Given the description of an element on the screen output the (x, y) to click on. 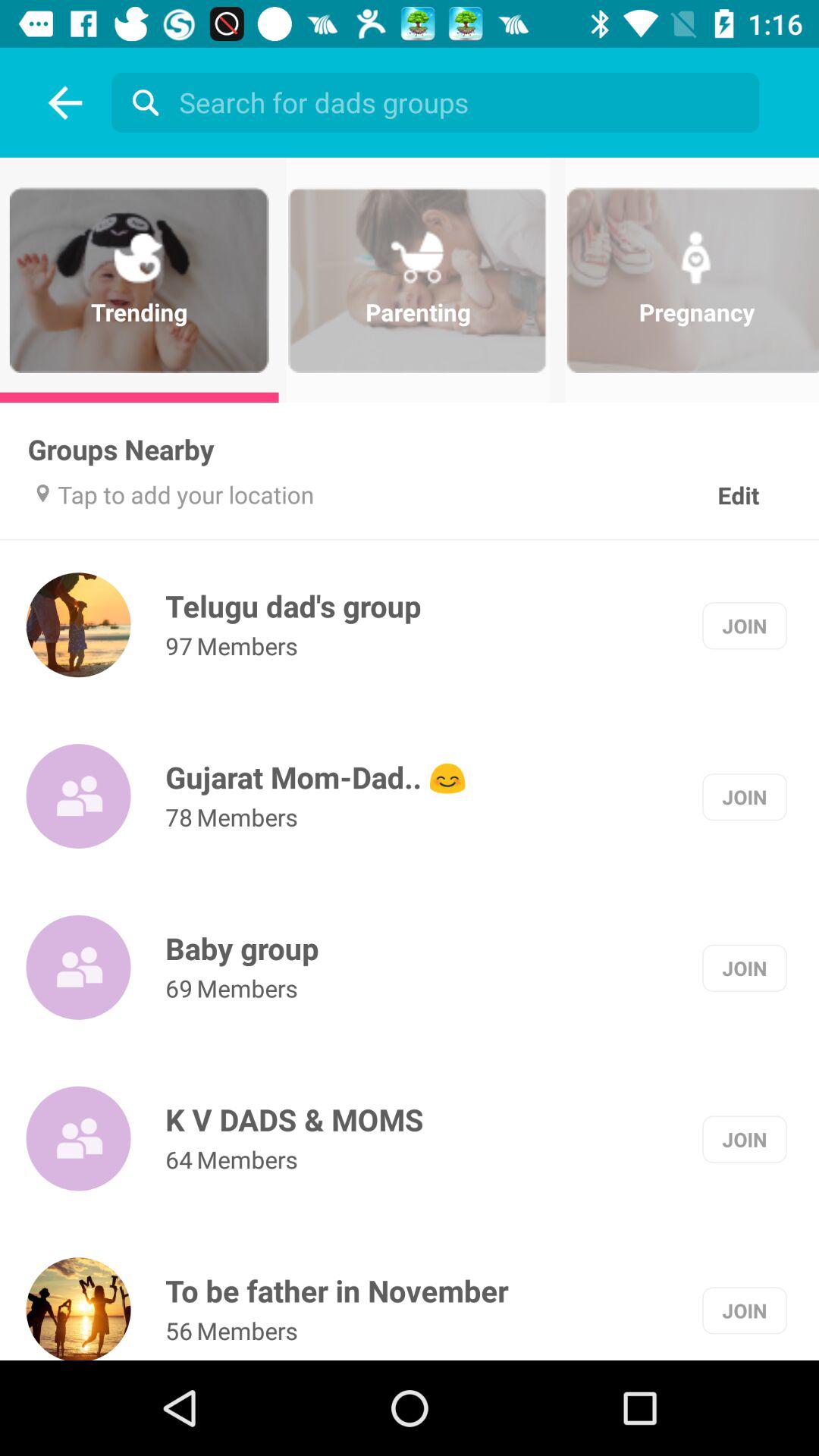
enter name of group to search (439, 102)
